Given the description of an element on the screen output the (x, y) to click on. 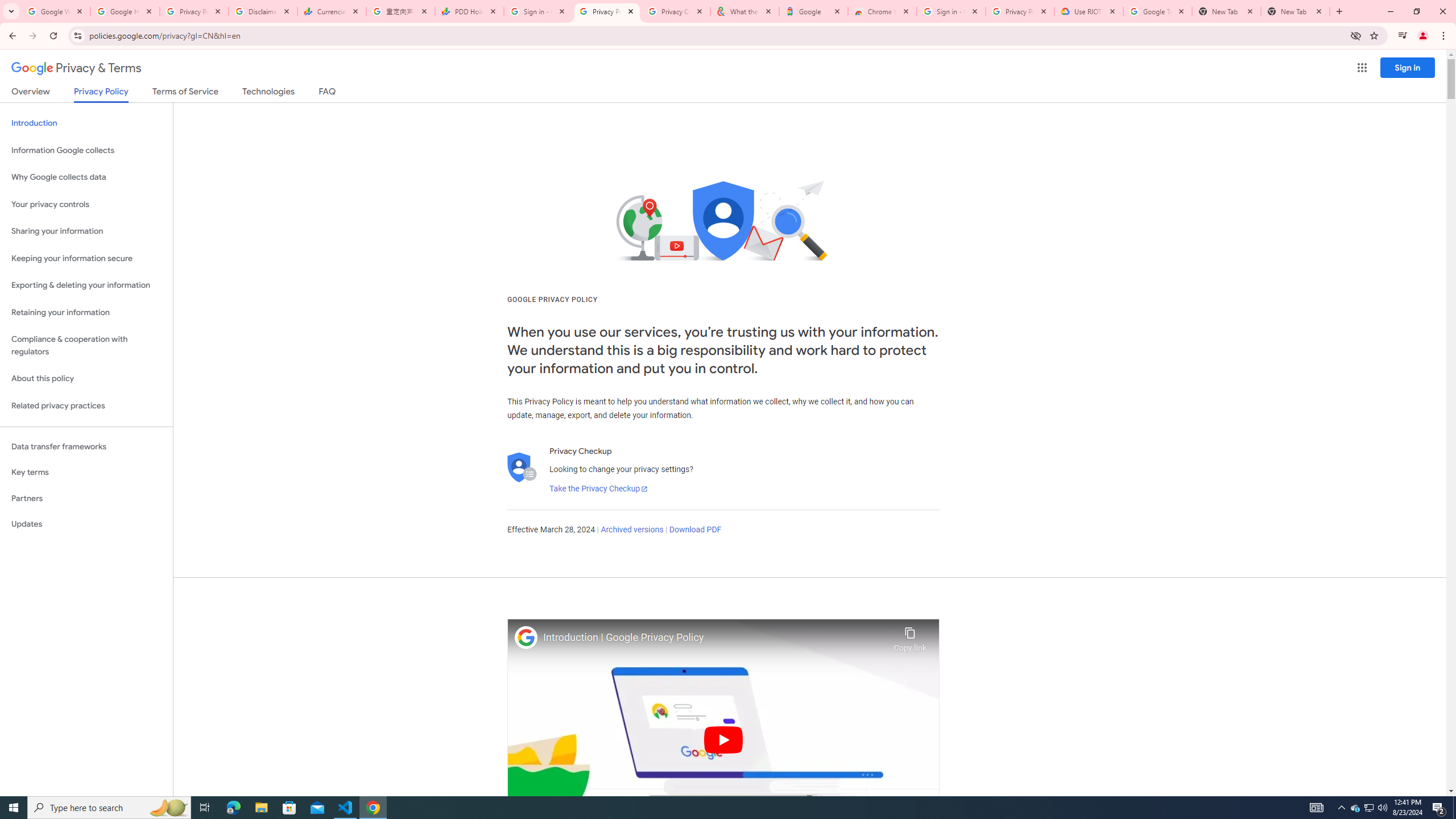
Chrome Web Store - Color themes by Chrome (882, 11)
Introduction | Google Privacy Policy (715, 637)
Related privacy practices (86, 405)
